Given the description of an element on the screen output the (x, y) to click on. 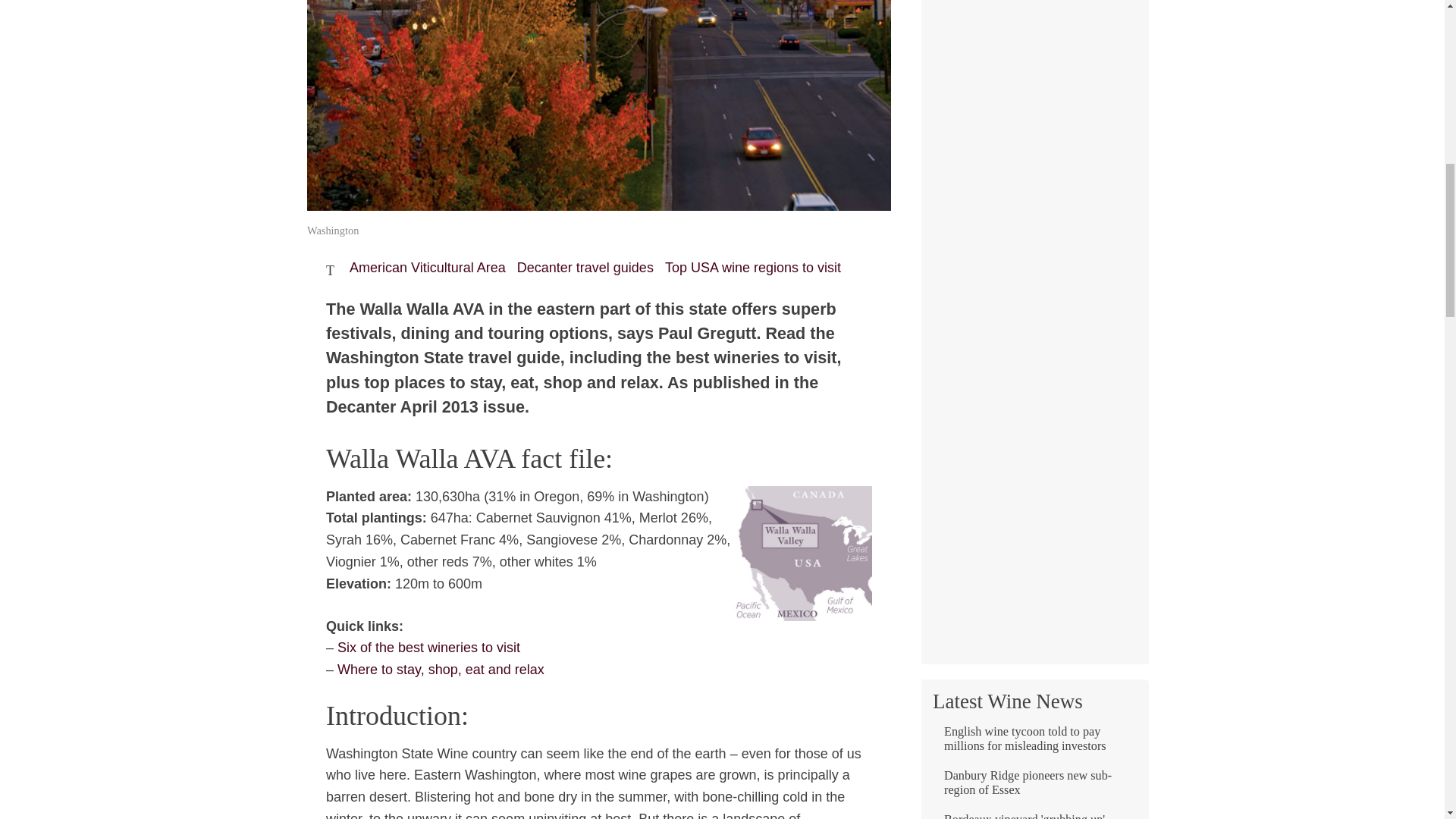
Bordeaux vineyard 'grubbing up' scheme hampered by weather (1035, 816)
Danbury Ridge pioneers new sub-region of Essex (1035, 789)
